Given the description of an element on the screen output the (x, y) to click on. 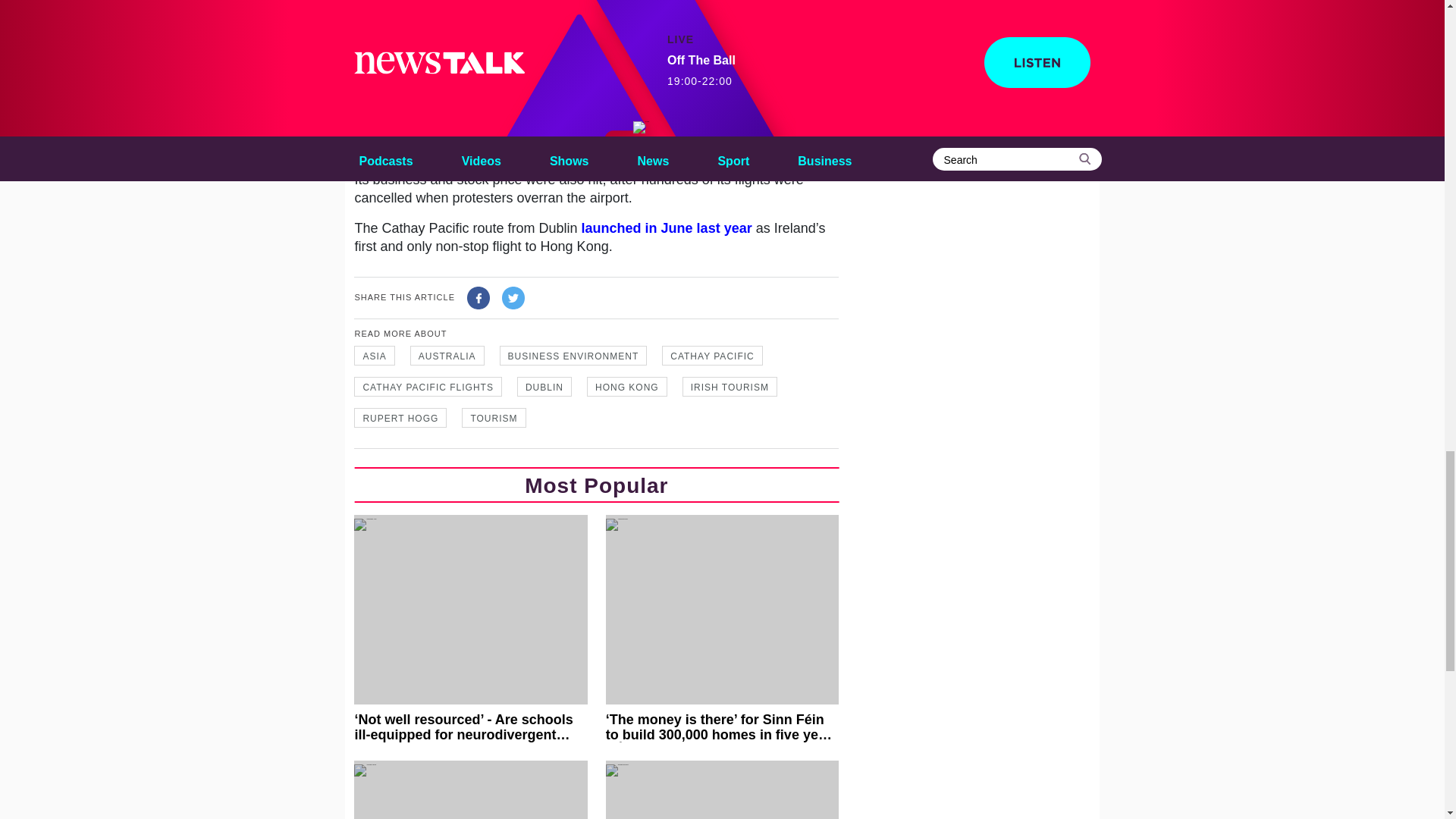
AUSTRALIA (447, 355)
resigned as CEO (489, 52)
HONG KONG (626, 386)
ASIA (373, 355)
BUSINESS ENVIRONMENT (573, 355)
DUBLIN (544, 386)
RUPERT HOGG (399, 417)
IRISH TOURISM (729, 386)
 launched in June last year  (666, 227)
CATHAY PACIFIC FLIGHTS (426, 386)
